Given the description of an element on the screen output the (x, y) to click on. 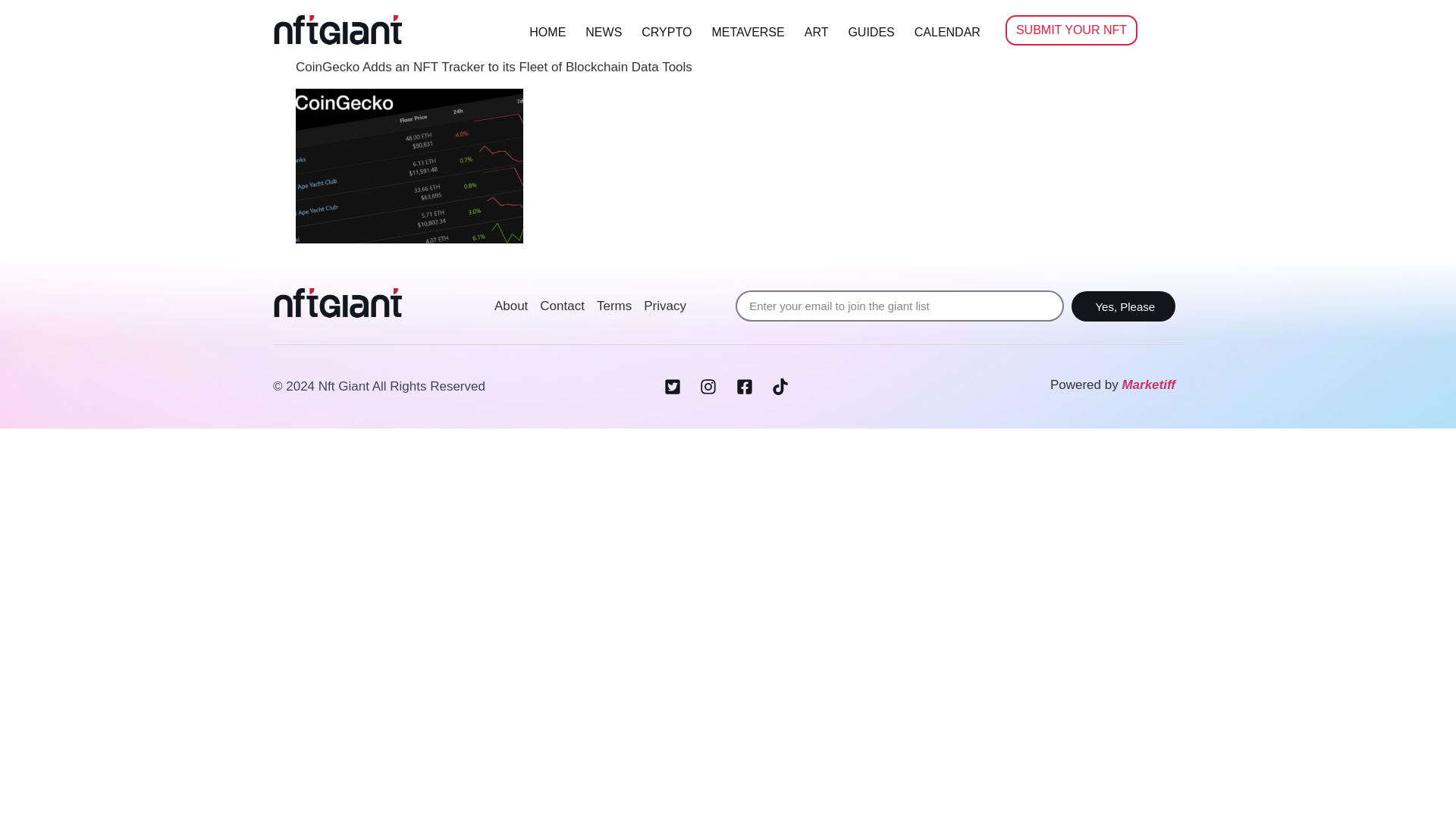
SUBMIT YOUR NFT (1071, 30)
Yes, Please (1122, 306)
METAVERSE (747, 32)
HOME (547, 32)
NEWS (603, 32)
About (511, 306)
Privacy (664, 306)
Marketiff (1147, 384)
Terms (613, 306)
ART (816, 32)
